Given the description of an element on the screen output the (x, y) to click on. 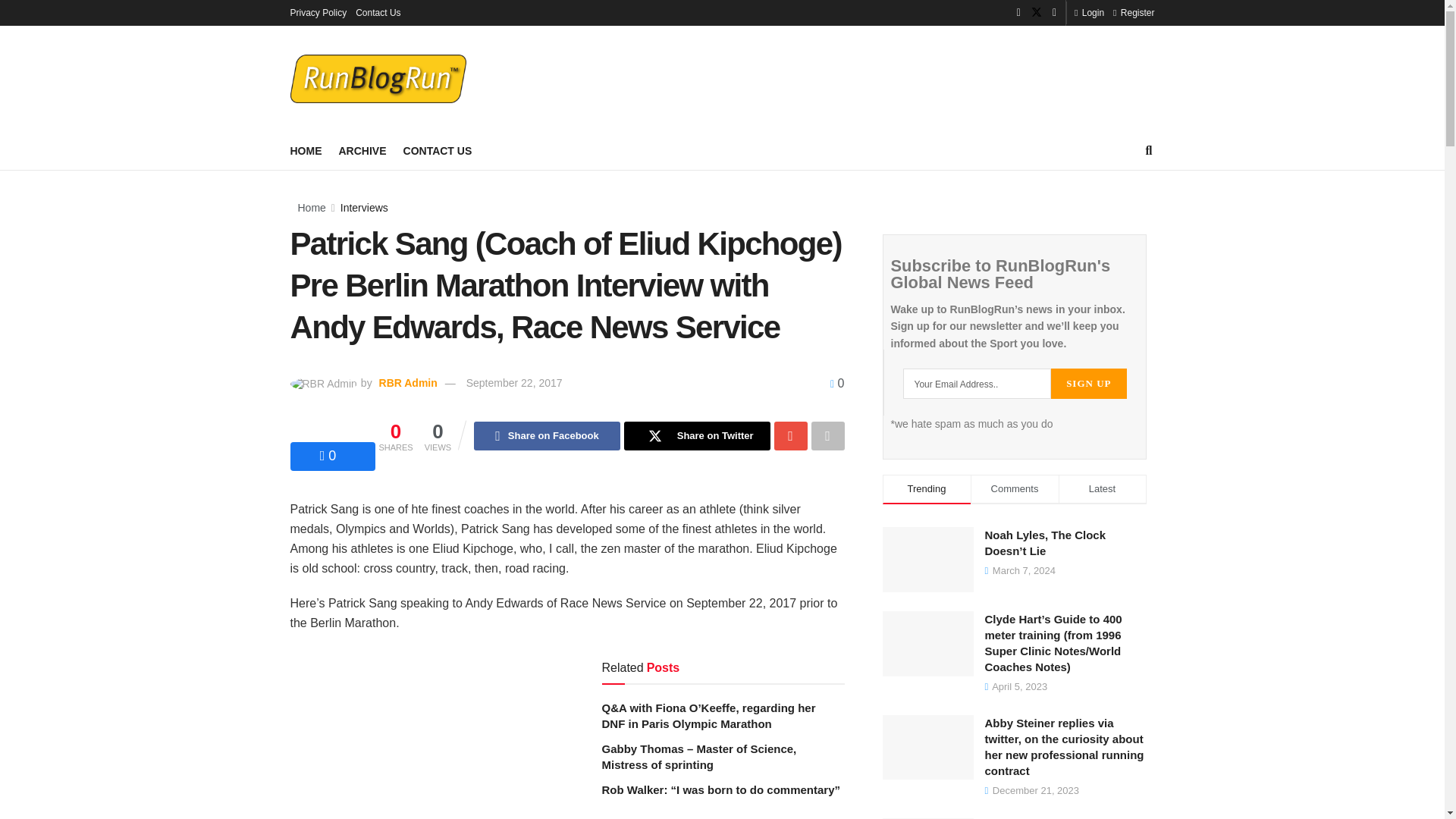
0 (836, 382)
SIGN UP (1088, 383)
ARCHIVE (361, 150)
Share on Twitter (697, 435)
Contact Us (377, 12)
0 (328, 455)
September 22, 2017 (513, 382)
CONTACT US (437, 150)
Register (1133, 12)
Login (1088, 12)
